Given the description of an element on the screen output the (x, y) to click on. 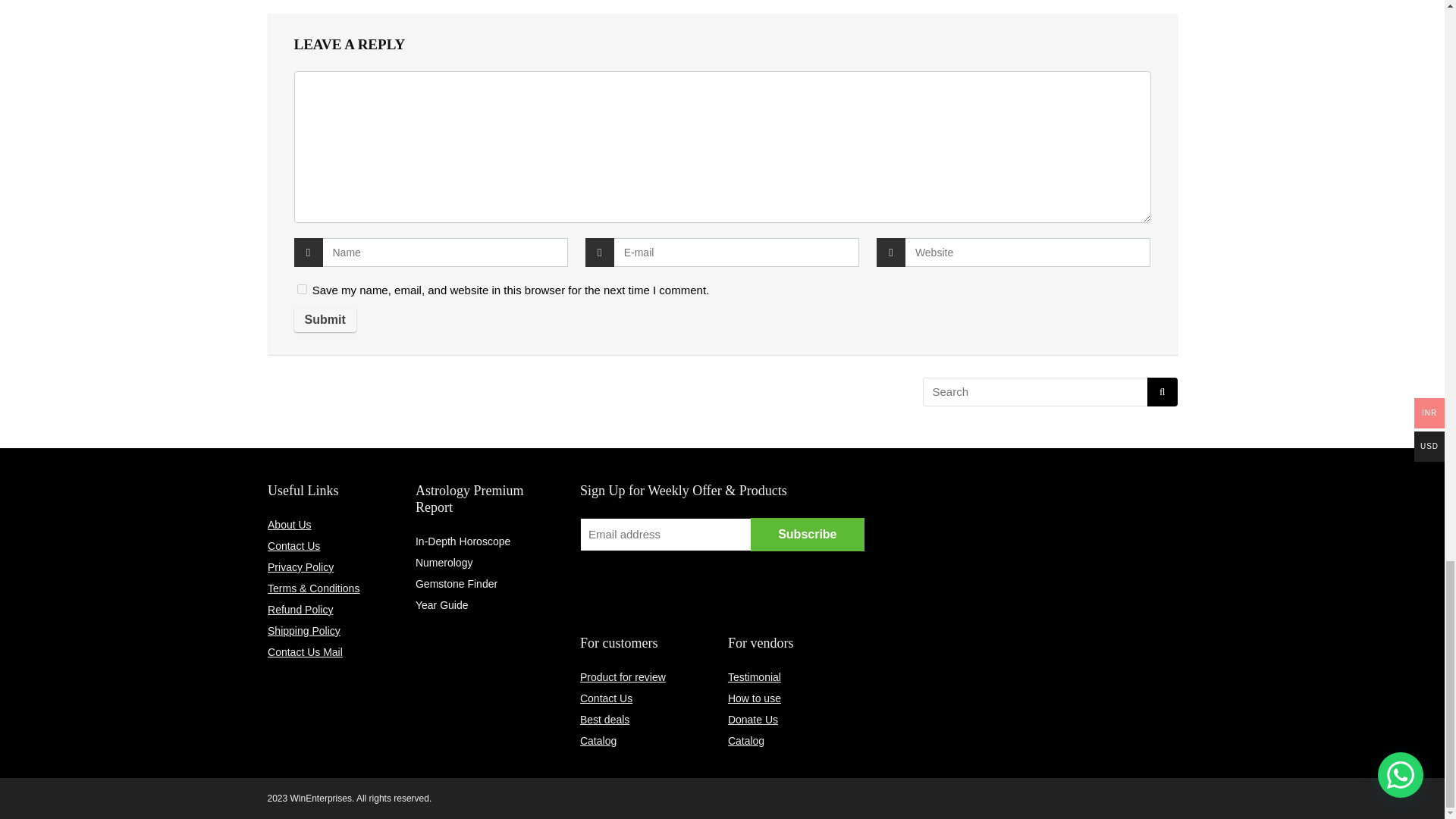
Subscribe (807, 534)
Submit (325, 319)
Submit (325, 319)
Contact Us Mail (304, 652)
Refund Policy (300, 609)
Catalog (597, 740)
How to use (754, 698)
yes (302, 289)
Product for review (622, 676)
Donate Us (752, 719)
Catalog (746, 740)
About Us (289, 524)
Shipping Policy (303, 630)
Testimonial (754, 676)
Subscribe (807, 534)
